Given the description of an element on the screen output the (x, y) to click on. 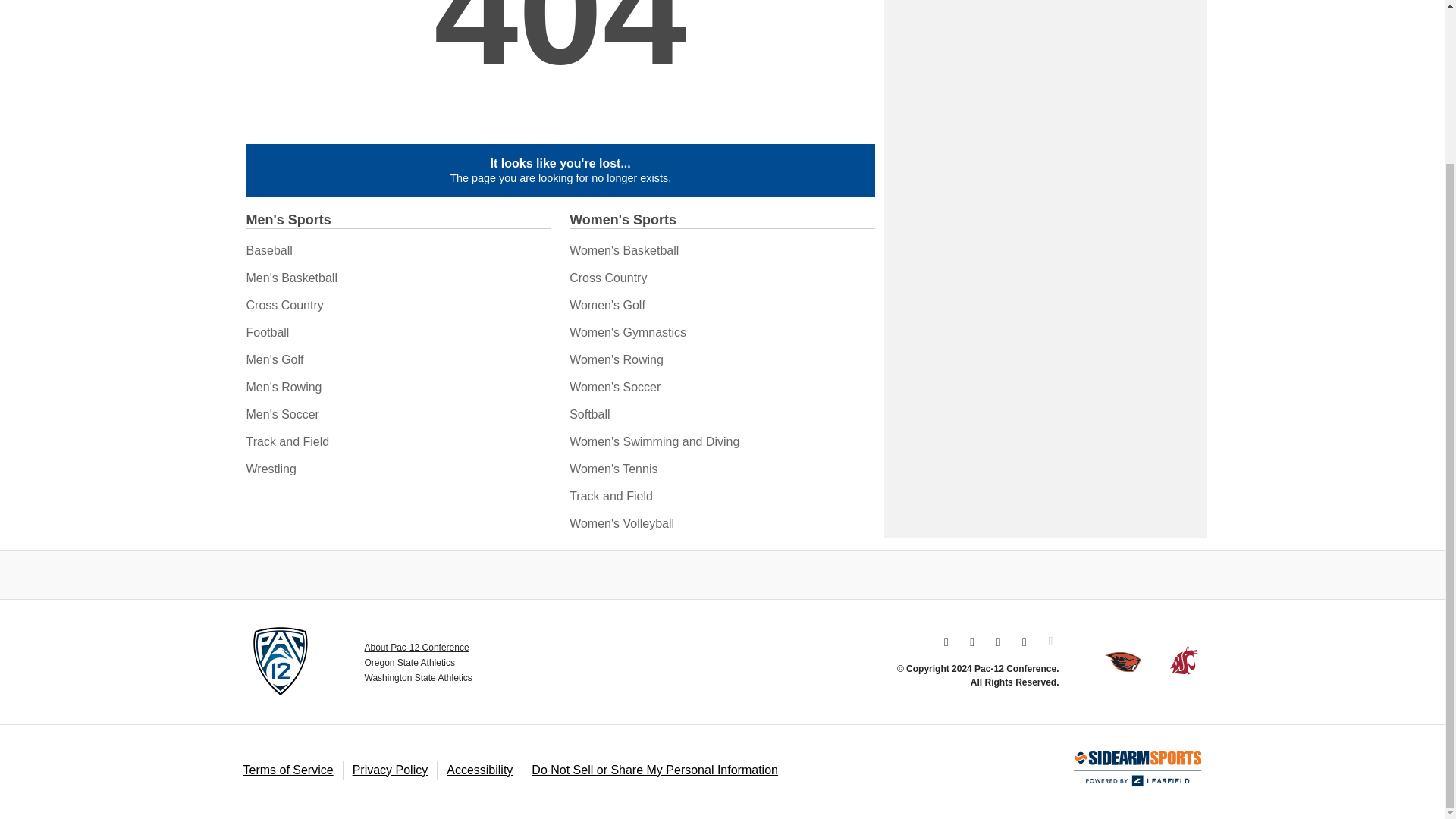
Sidearm Sports, opens in new window (1137, 769)
Twitter (971, 641)
Instagram (946, 641)
Facebook (998, 641)
TikTok (1024, 641)
